Given the description of an element on the screen output the (x, y) to click on. 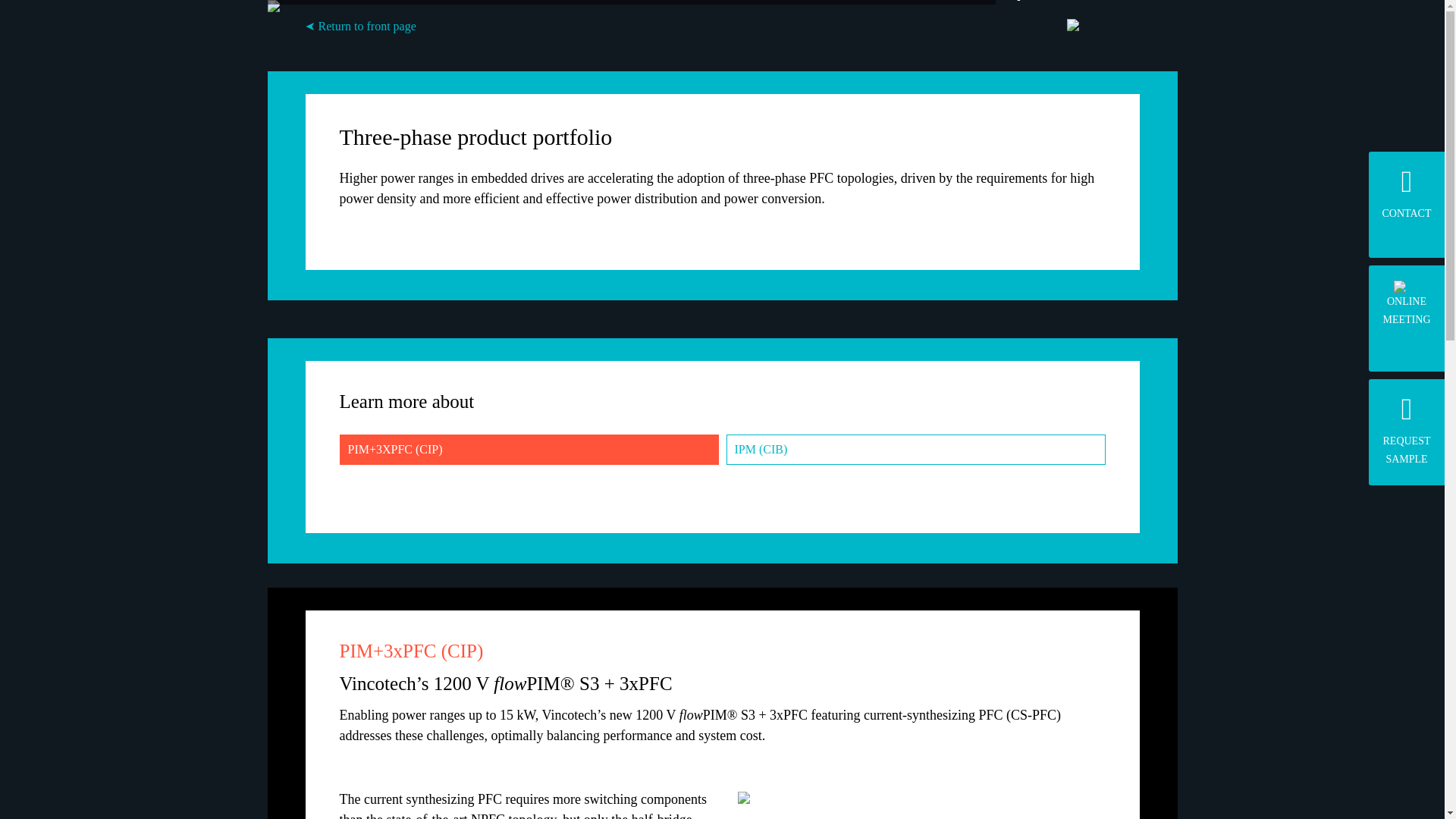
CONTACT (1406, 302)
Return to front page (1406, 429)
